Given the description of an element on the screen output the (x, y) to click on. 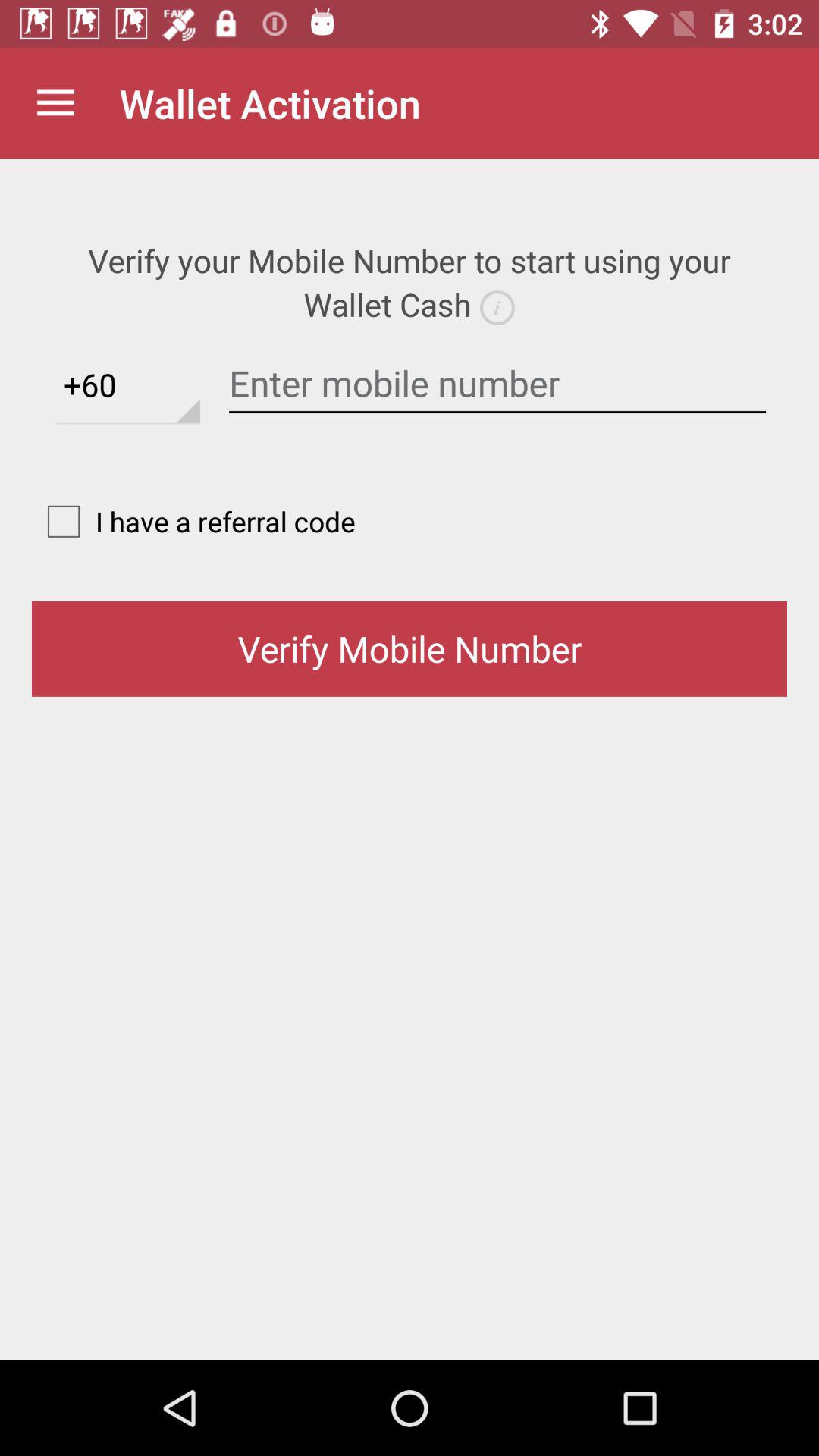
enter phone number (497, 383)
